Given the description of an element on the screen output the (x, y) to click on. 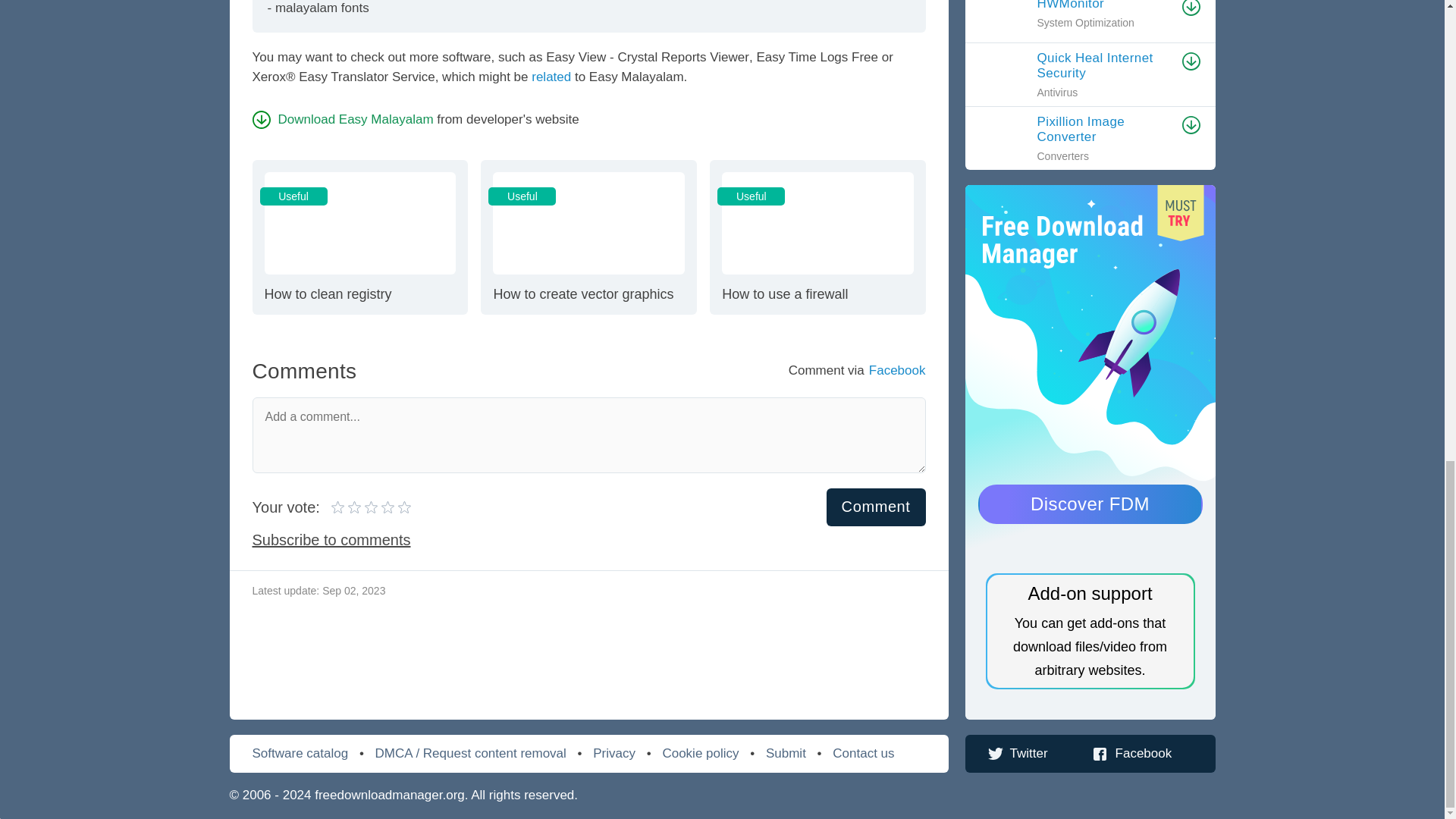
Download Easy Malayalam (341, 119)
Comment (876, 507)
4 (363, 506)
2 (346, 506)
Comment (876, 507)
1 (359, 235)
3 (338, 506)
related (587, 235)
5 (355, 506)
